Given the description of an element on the screen output the (x, y) to click on. 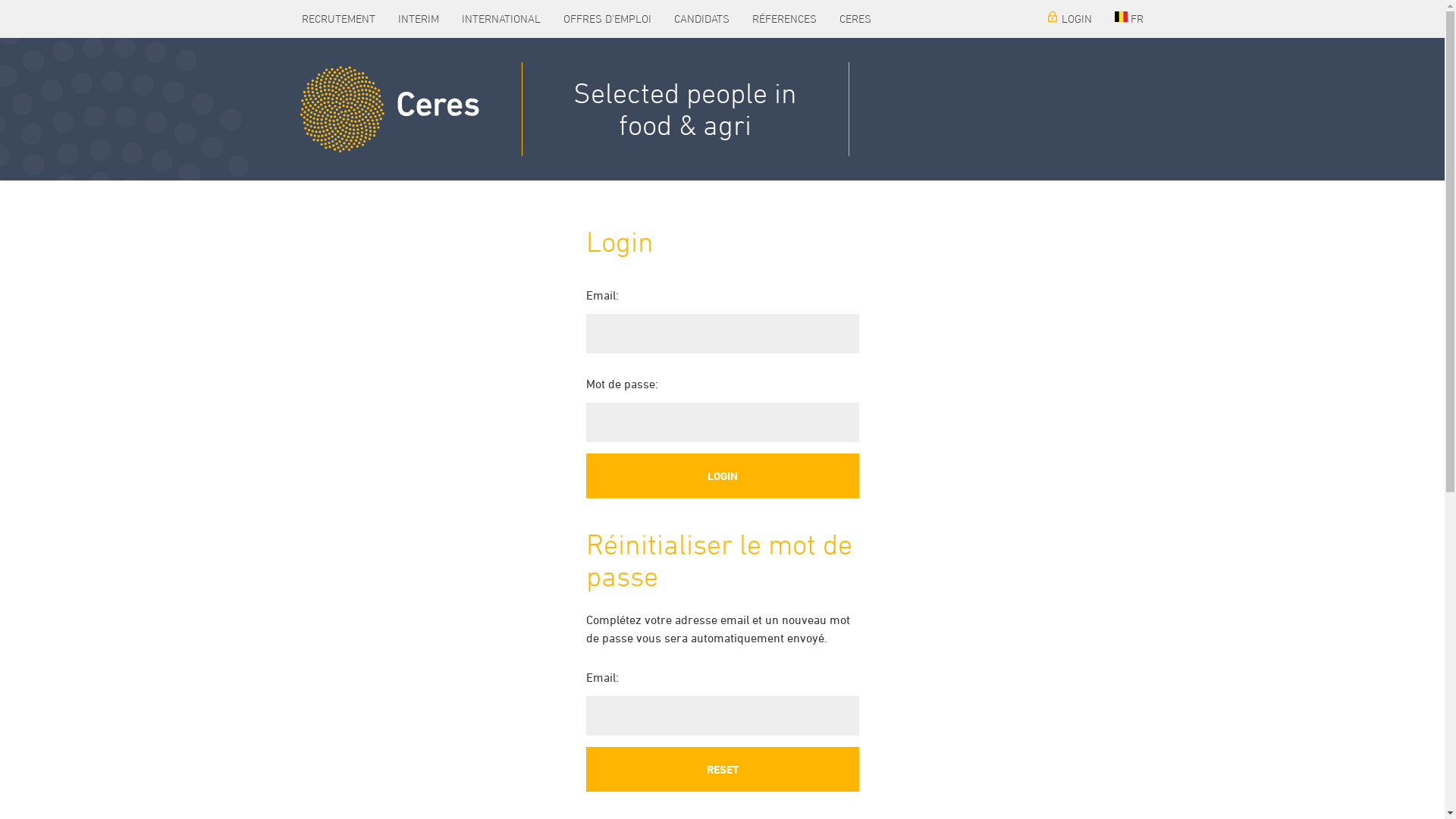
RECRUTEMENT Element type: text (337, 18)
CERES Element type: text (855, 18)
FR Element type: text (1128, 18)
Login Element type: text (721, 475)
INTERNATIONAL Element type: text (501, 18)
Reset Element type: text (721, 768)
OFFRES D'EMPLOI Element type: text (607, 18)
LOGIN Element type: text (1068, 18)
CANDIDATS Element type: text (701, 18)
INTERIM Element type: text (418, 18)
